Given the description of an element on the screen output the (x, y) to click on. 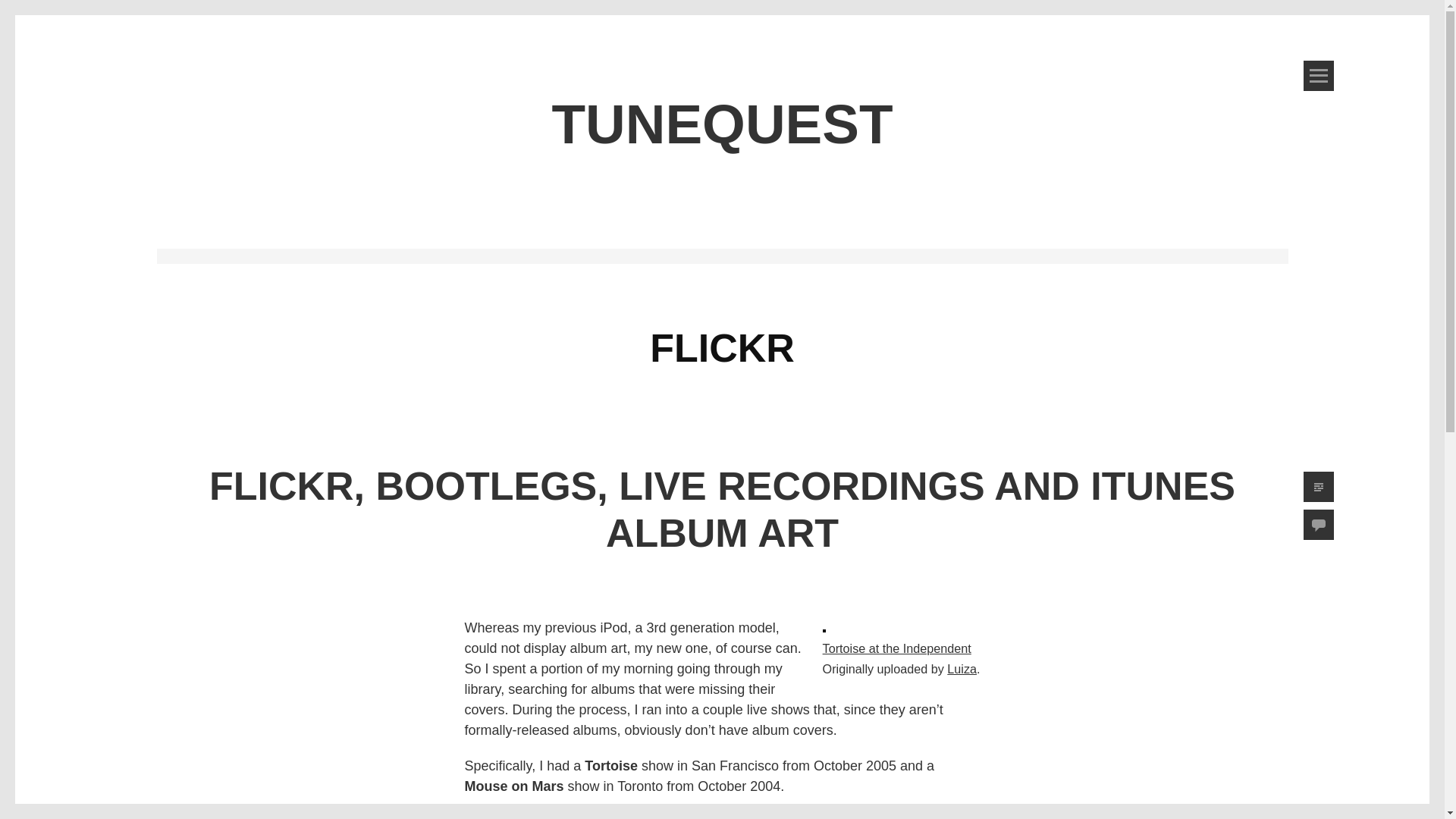
TUNEQUEST (721, 123)
Luiza (961, 668)
Tortoise at the Independent (896, 648)
FLICKR, BOOTLEGS, LIVE RECORDINGS AND ITUNES ALBUM ART (721, 509)
